Given the description of an element on the screen output the (x, y) to click on. 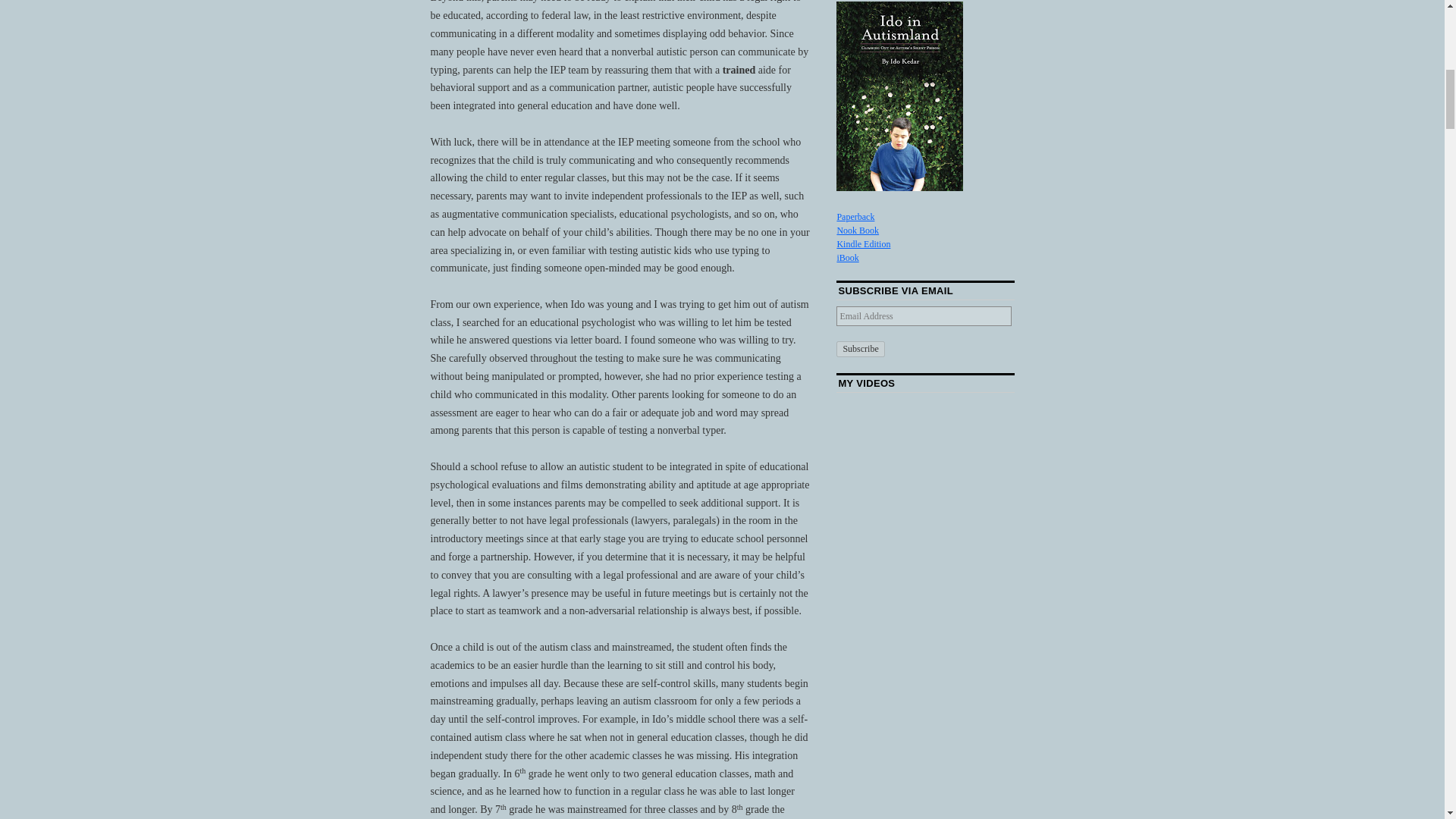
YouTube player (924, 545)
Subscribe (859, 349)
YouTube player (924, 647)
YouTube player (924, 749)
YouTube player (924, 442)
